Given the description of an element on the screen output the (x, y) to click on. 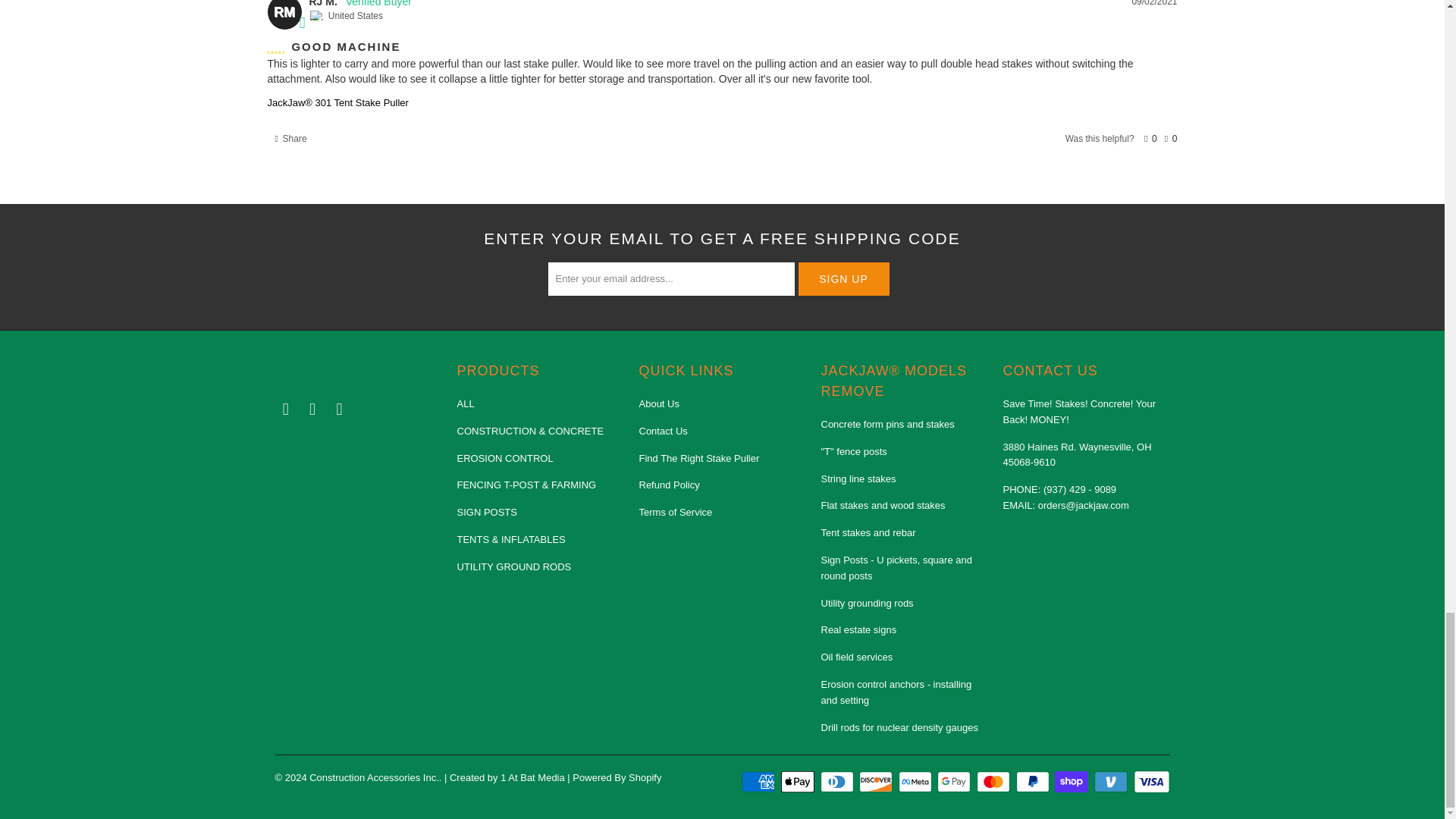
Apple Pay (798, 781)
Discover (877, 781)
Shop Pay (1072, 781)
Construction Accessories Inc. on Instagram (339, 409)
Sign Up (842, 278)
American Express (759, 781)
Visa (1150, 781)
Construction Accessories Inc. on YouTube (312, 409)
Meta Pay (916, 781)
Mastercard (994, 781)
PayPal (1034, 781)
Construction Accessories Inc. on Facebook (286, 409)
Venmo (1112, 781)
Diners Club (839, 781)
Google Pay (955, 781)
